Given the description of an element on the screen output the (x, y) to click on. 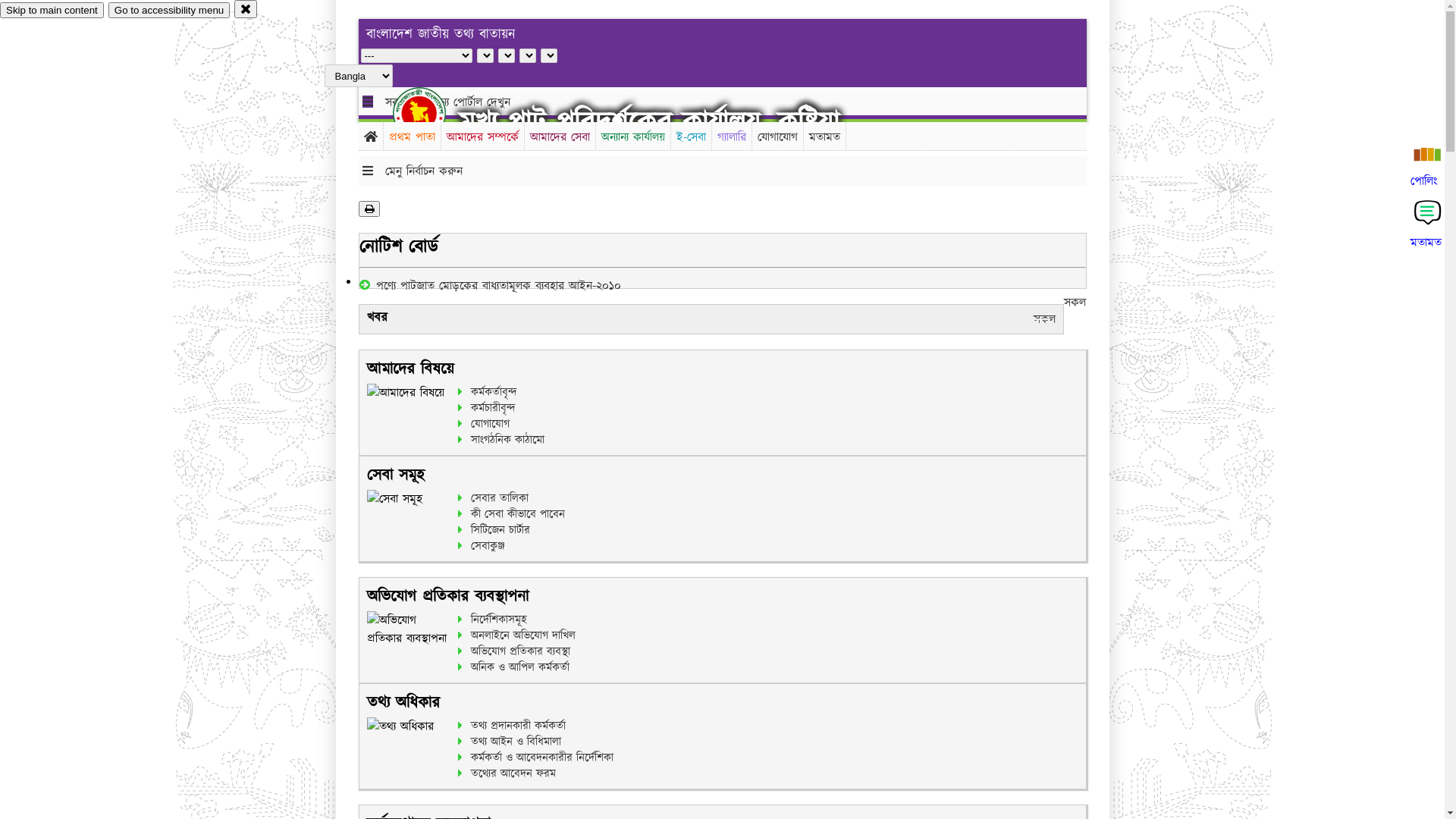
close Element type: hover (245, 9)

                
             Element type: hover (431, 112)
Go to accessibility menu Element type: text (168, 10)
Skip to main content Element type: text (51, 10)
